Given the description of an element on the screen output the (x, y) to click on. 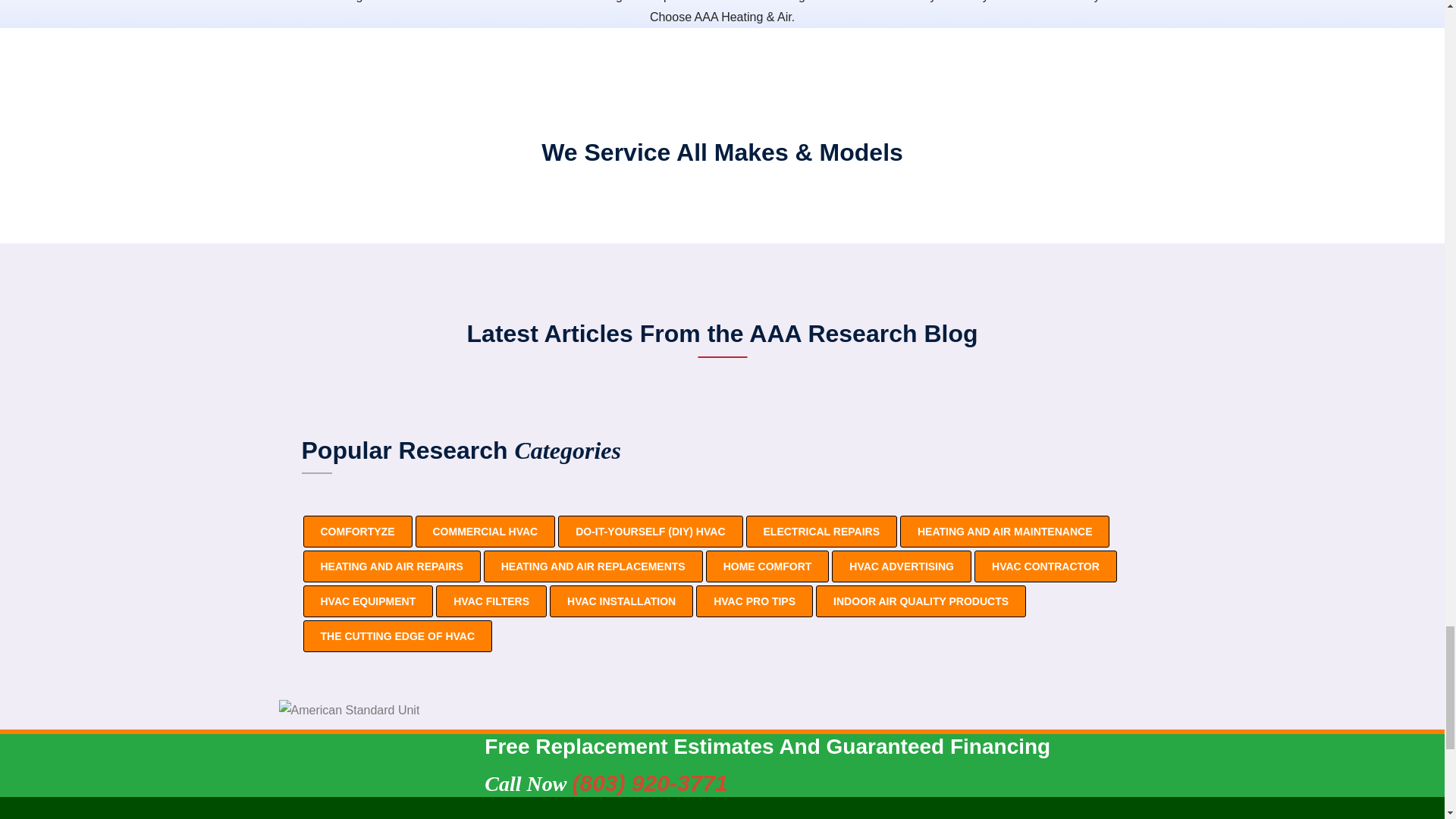
Comfortyze Tag (357, 531)
